Given the description of an element on the screen output the (x, y) to click on. 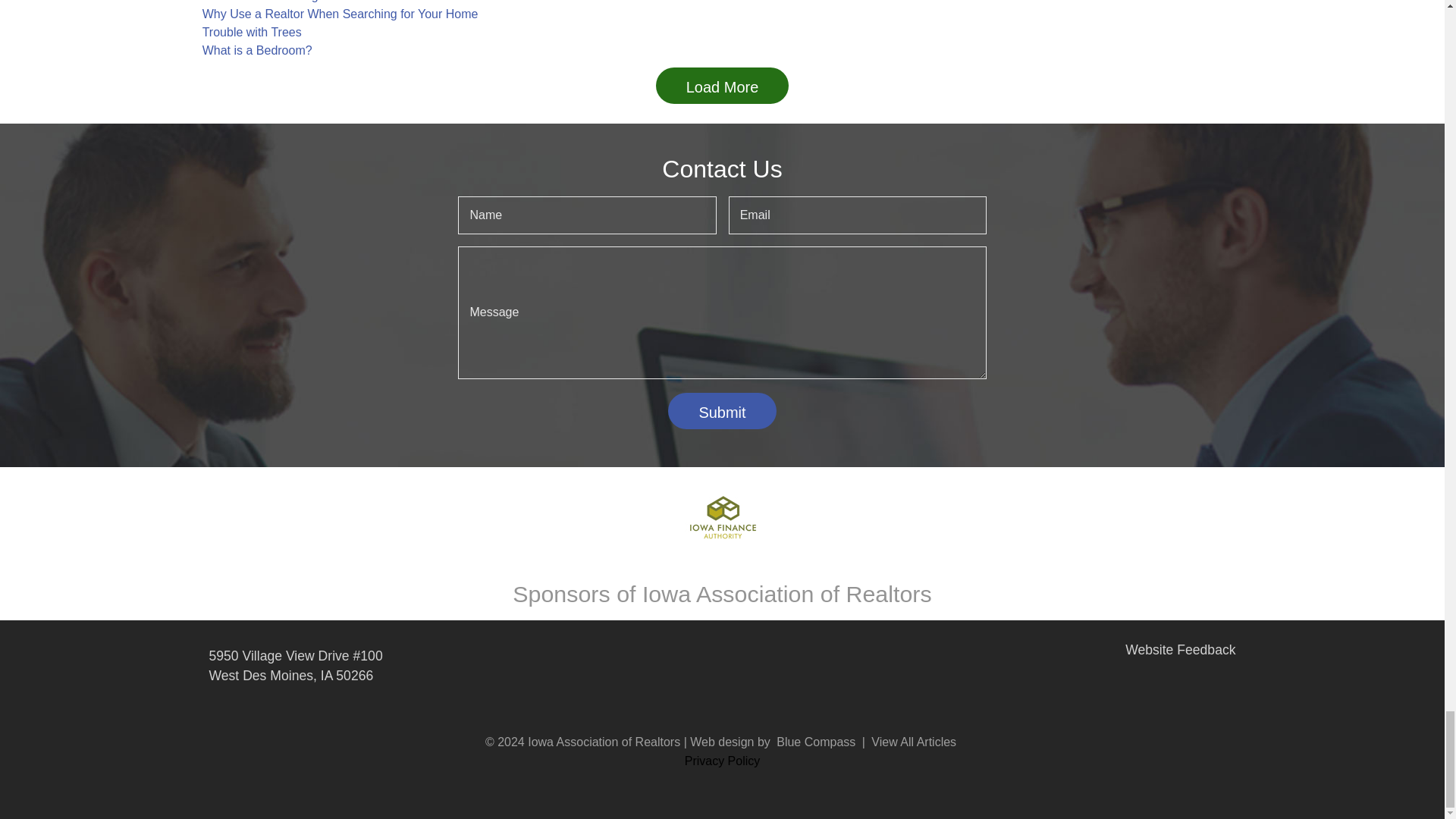
Privacy Policy (722, 760)
